Given the description of an element on the screen output the (x, y) to click on. 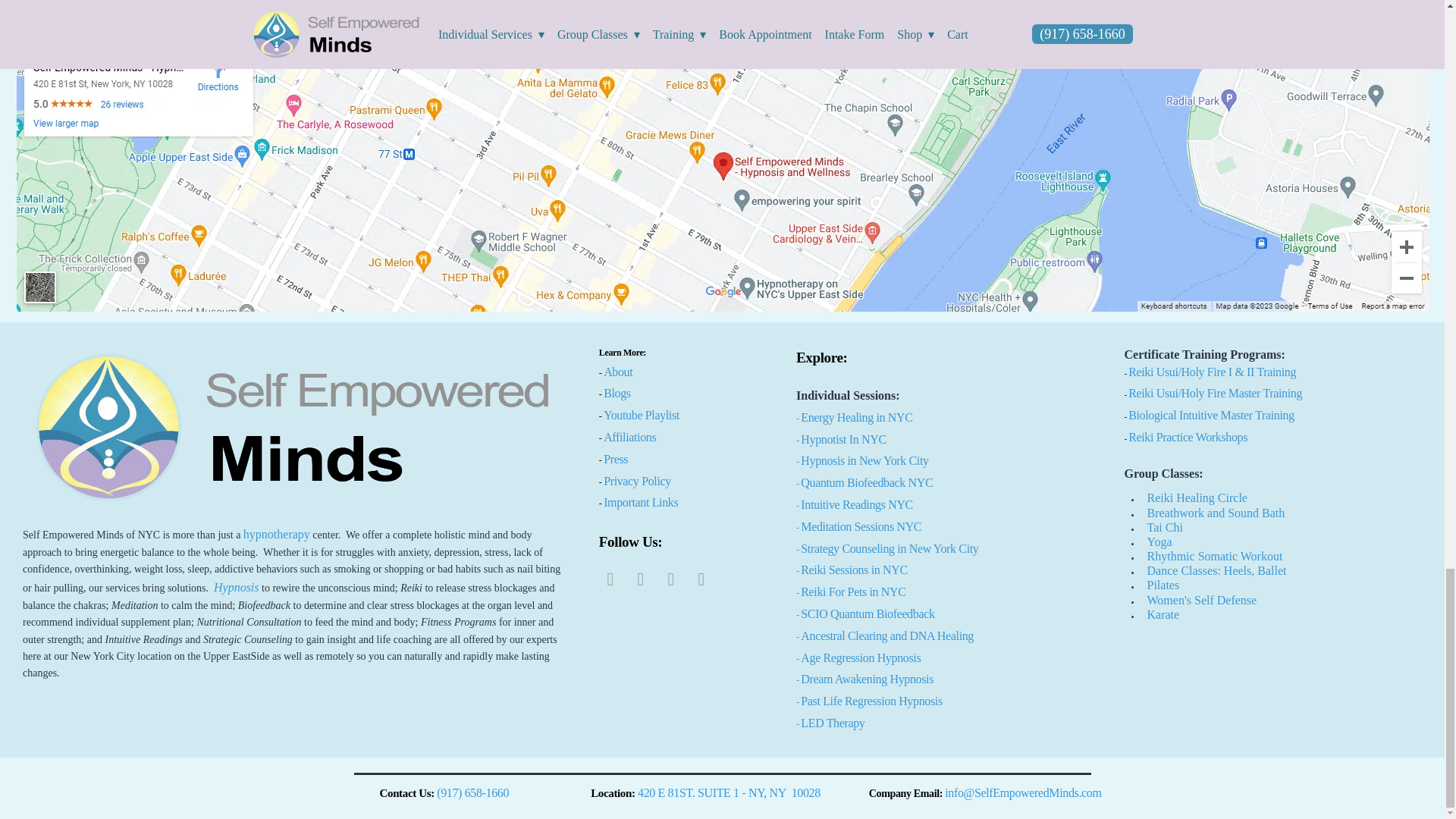
About (617, 371)
